Given the description of an element on the screen output the (x, y) to click on. 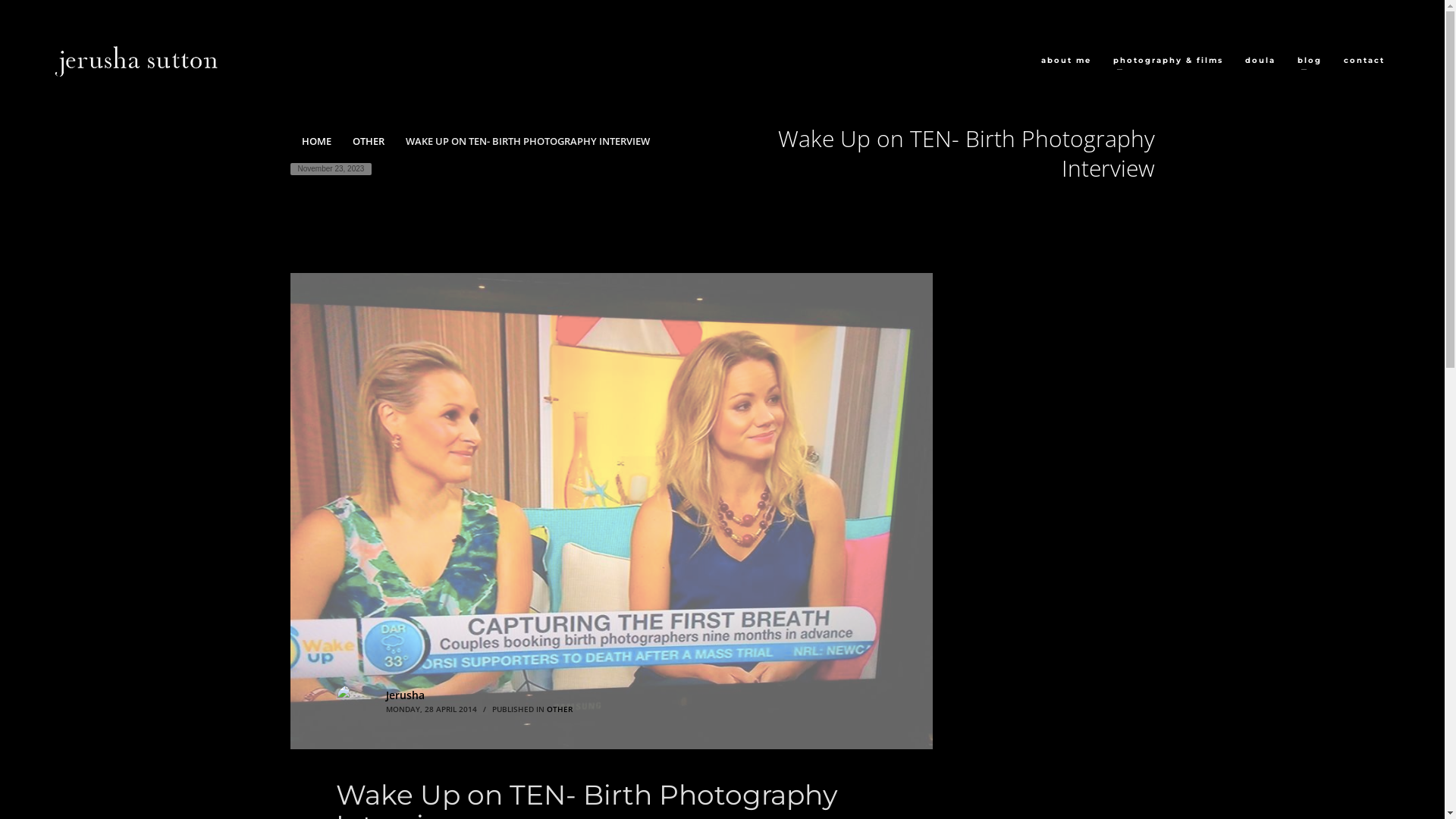
photography & films Element type: text (1168, 60)
contact Element type: text (1363, 60)
OTHER Element type: text (367, 140)
Screen Shot 2014-04-28 at 6.44.55 PM Element type: hover (610, 511)
doula Element type: text (1260, 60)
blog Element type: text (1308, 60)
Jerusha Element type: text (404, 694)
Birth | Postnatal Doula, Birth & Family Photography Element type: hover (136, 60)
about me Element type: text (1065, 60)
OTHER Element type: text (558, 708)
HOME Element type: text (316, 140)
